Given the description of an element on the screen output the (x, y) to click on. 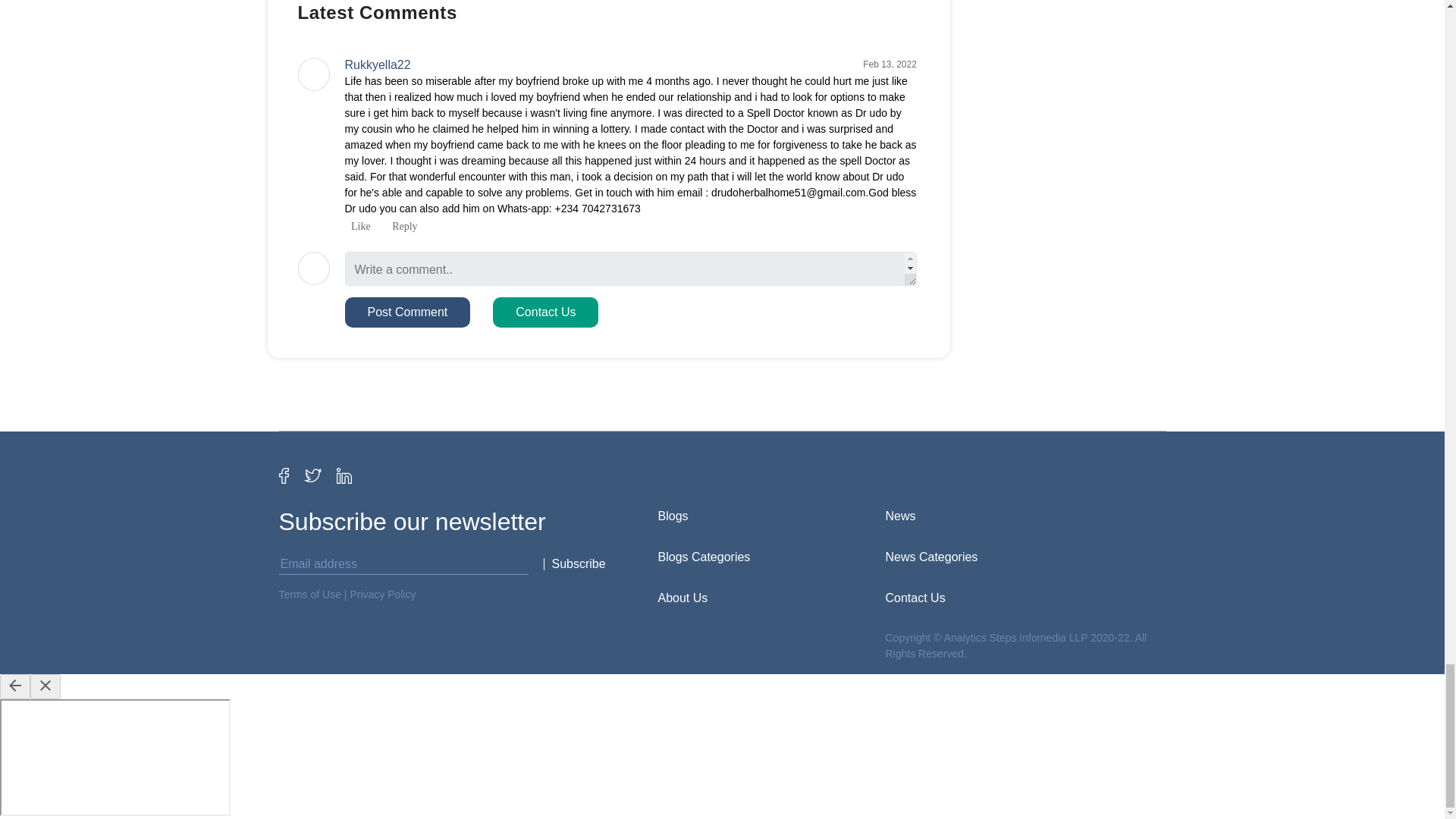
Like (356, 225)
Post Comment (406, 312)
Reply (401, 225)
Contact Us (545, 312)
